Given the description of an element on the screen output the (x, y) to click on. 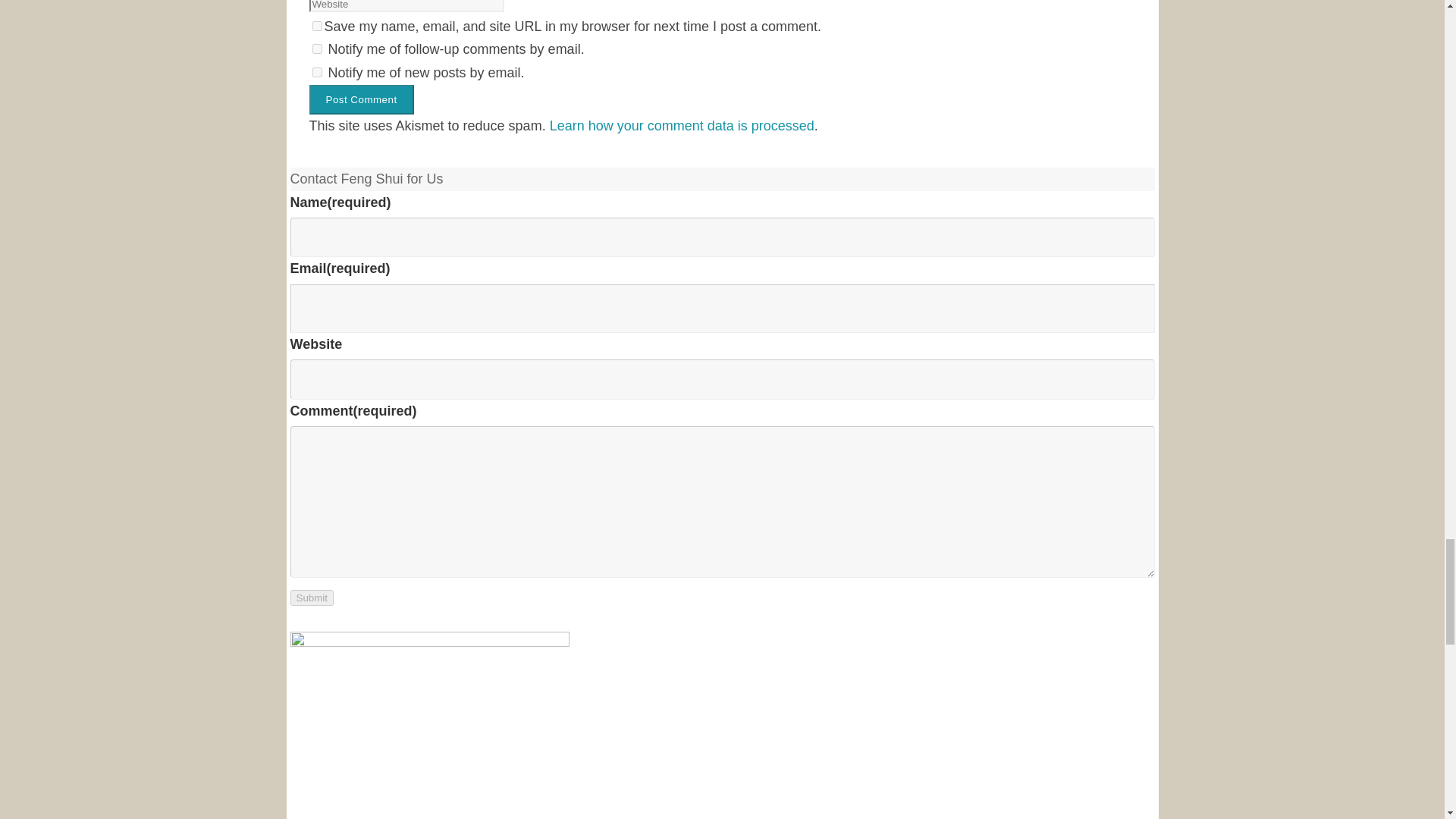
subscribe (317, 49)
yes (317, 26)
subscribe (317, 71)
Post Comment (360, 99)
